Given the description of an element on the screen output the (x, y) to click on. 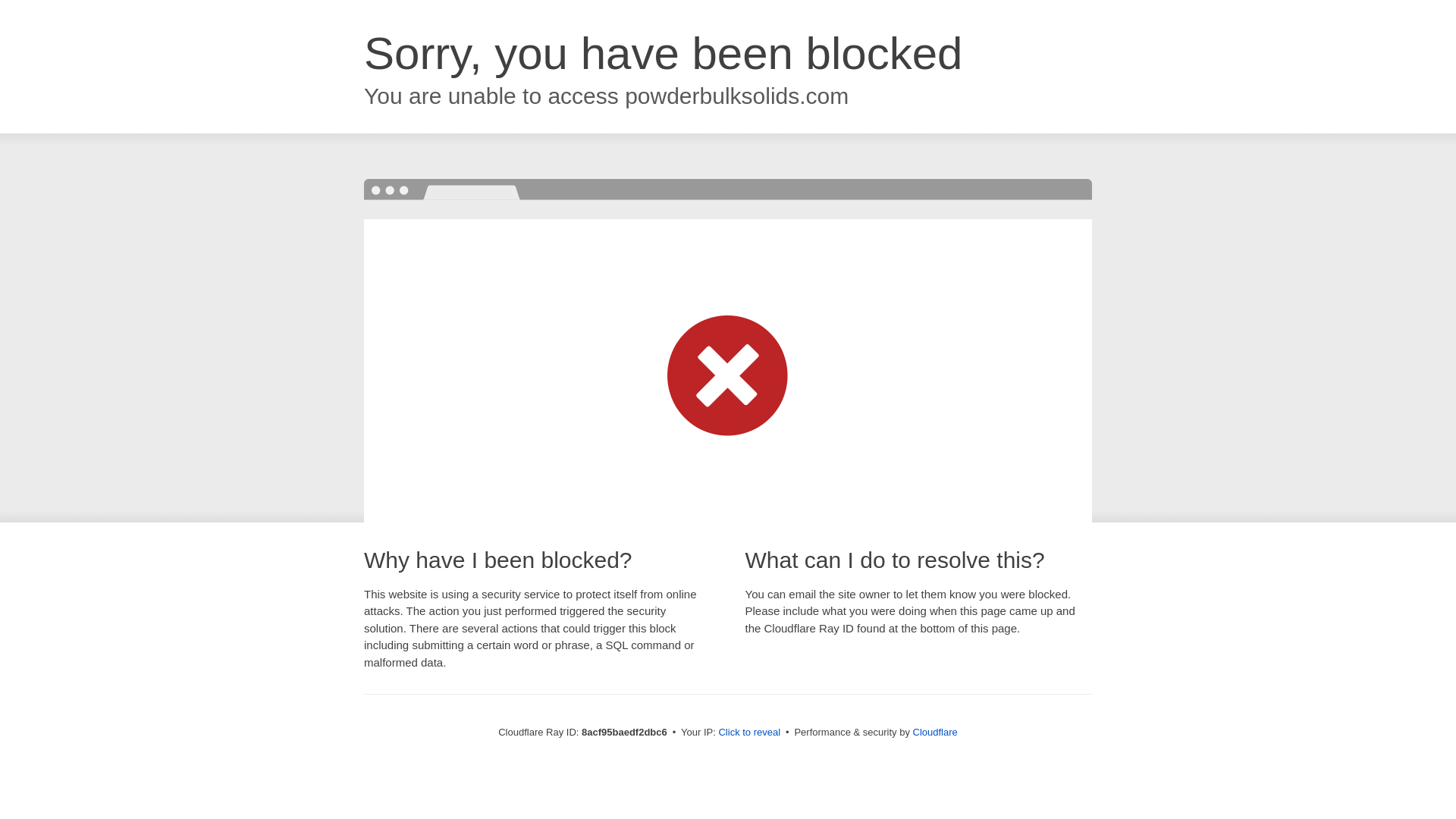
Cloudflare (935, 731)
Click to reveal (748, 732)
